Given the description of an element on the screen output the (x, y) to click on. 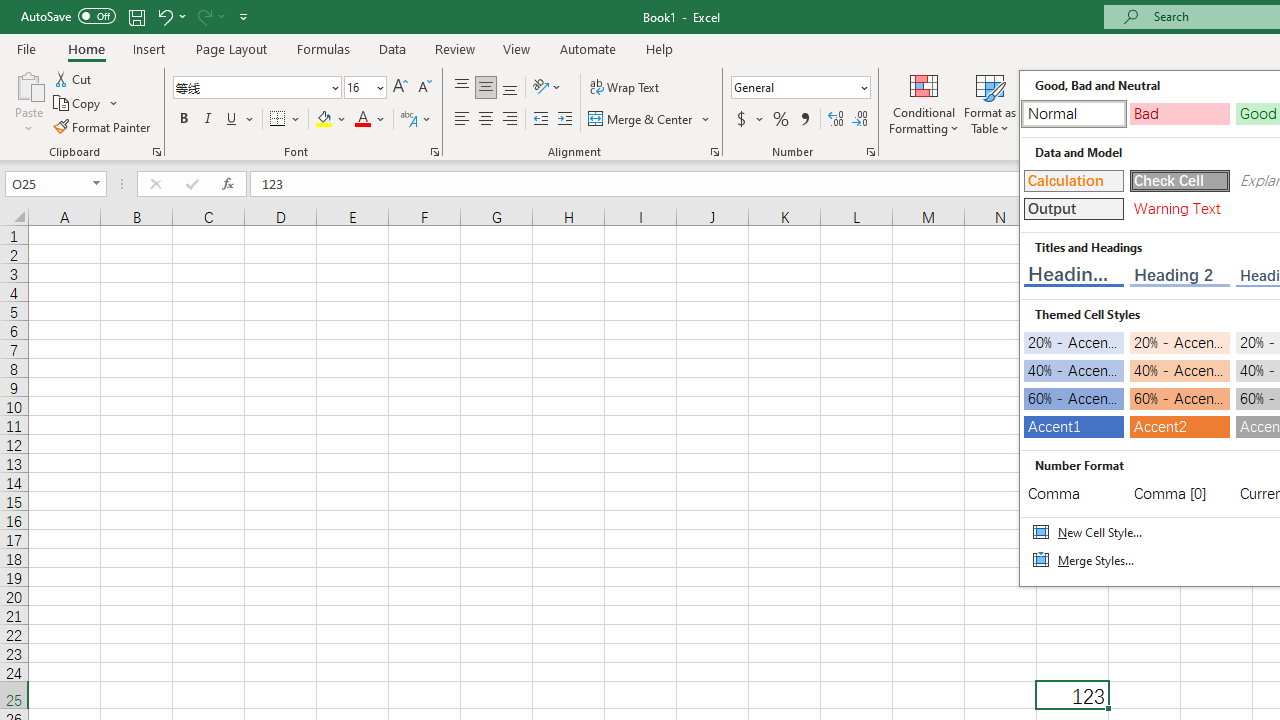
Accounting Number Format (741, 119)
Fill Color (331, 119)
Align Right (509, 119)
Number Format (800, 87)
Increase Decimal (836, 119)
Cut (73, 78)
Copy (85, 103)
Center (485, 119)
Format Cell Font (434, 151)
Increase Indent (565, 119)
